Given the description of an element on the screen output the (x, y) to click on. 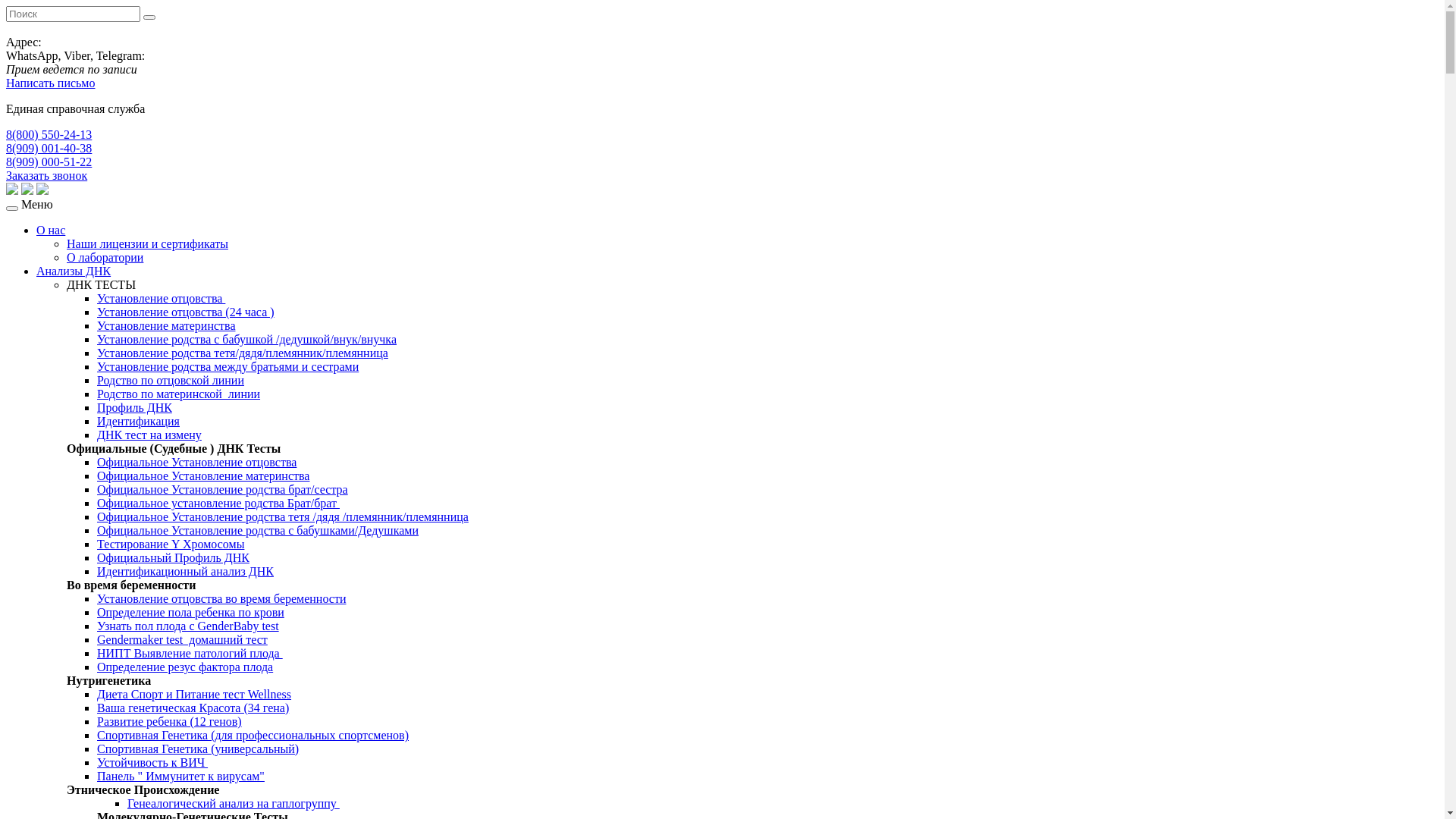
8(909) 001-40-38 Element type: text (48, 147)
8(800) 550-24-13 Element type: text (48, 134)
8(909) 000-51-22 Element type: text (48, 161)
